Given the description of an element on the screen output the (x, y) to click on. 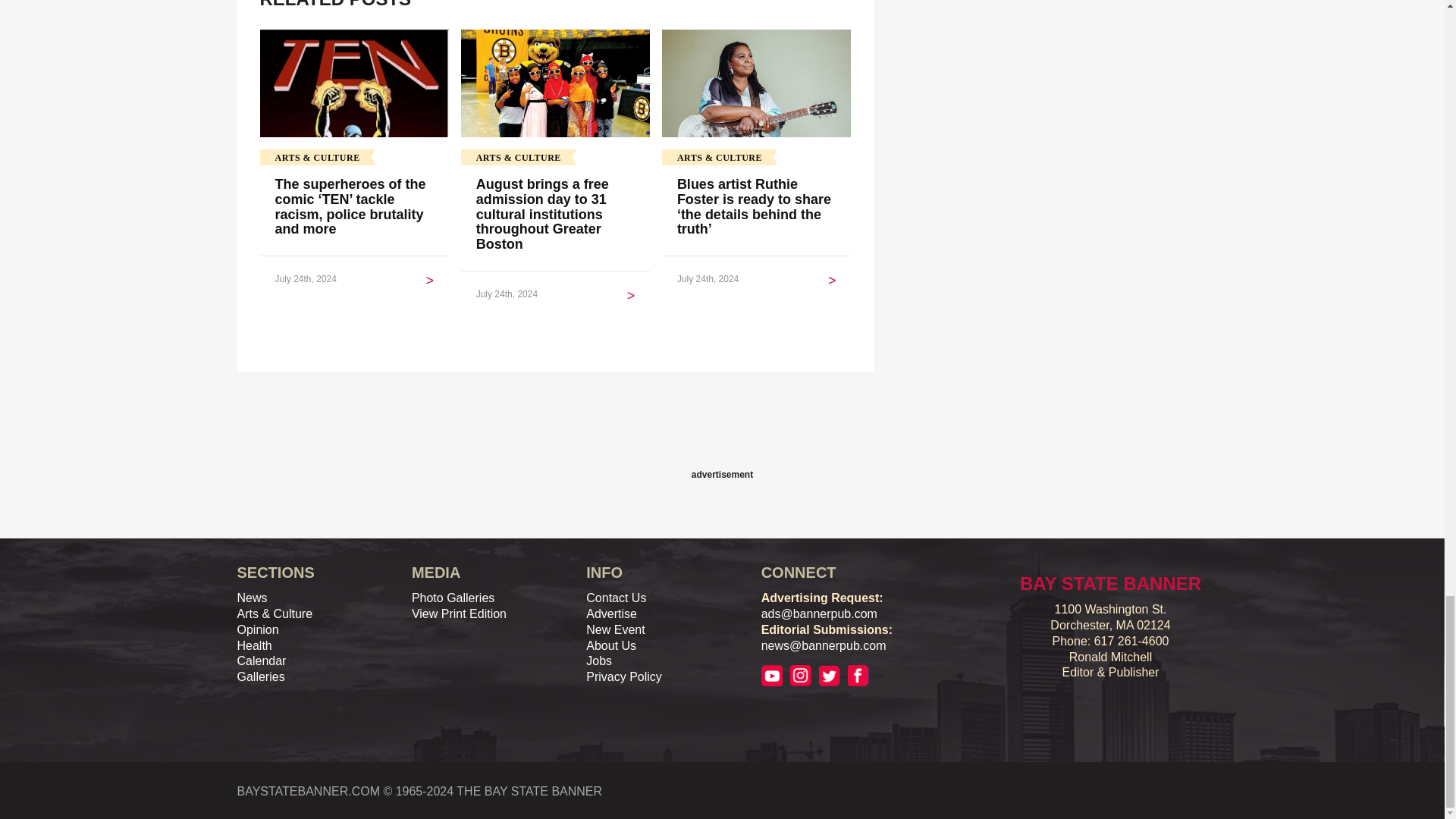
3rd party ad content (721, 430)
